Given the description of an element on the screen output the (x, y) to click on. 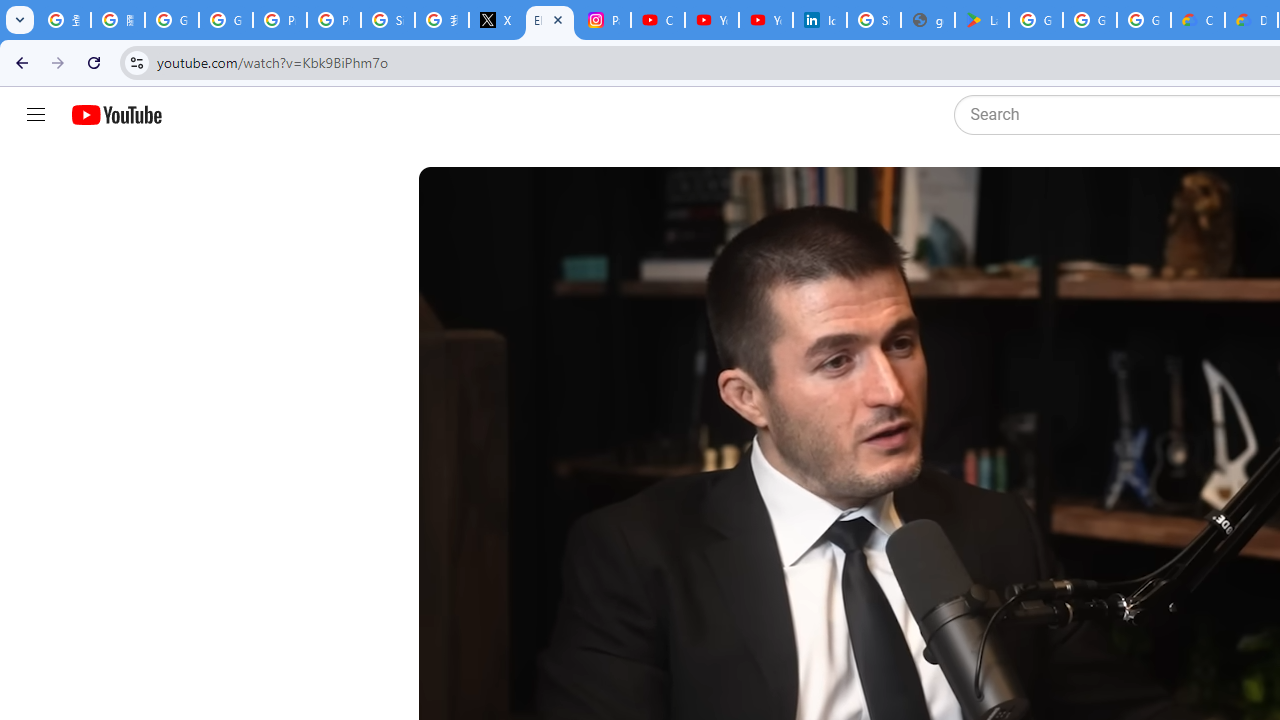
Google Workspace - Specific Terms (1089, 20)
